Given the description of an element on the screen output the (x, y) to click on. 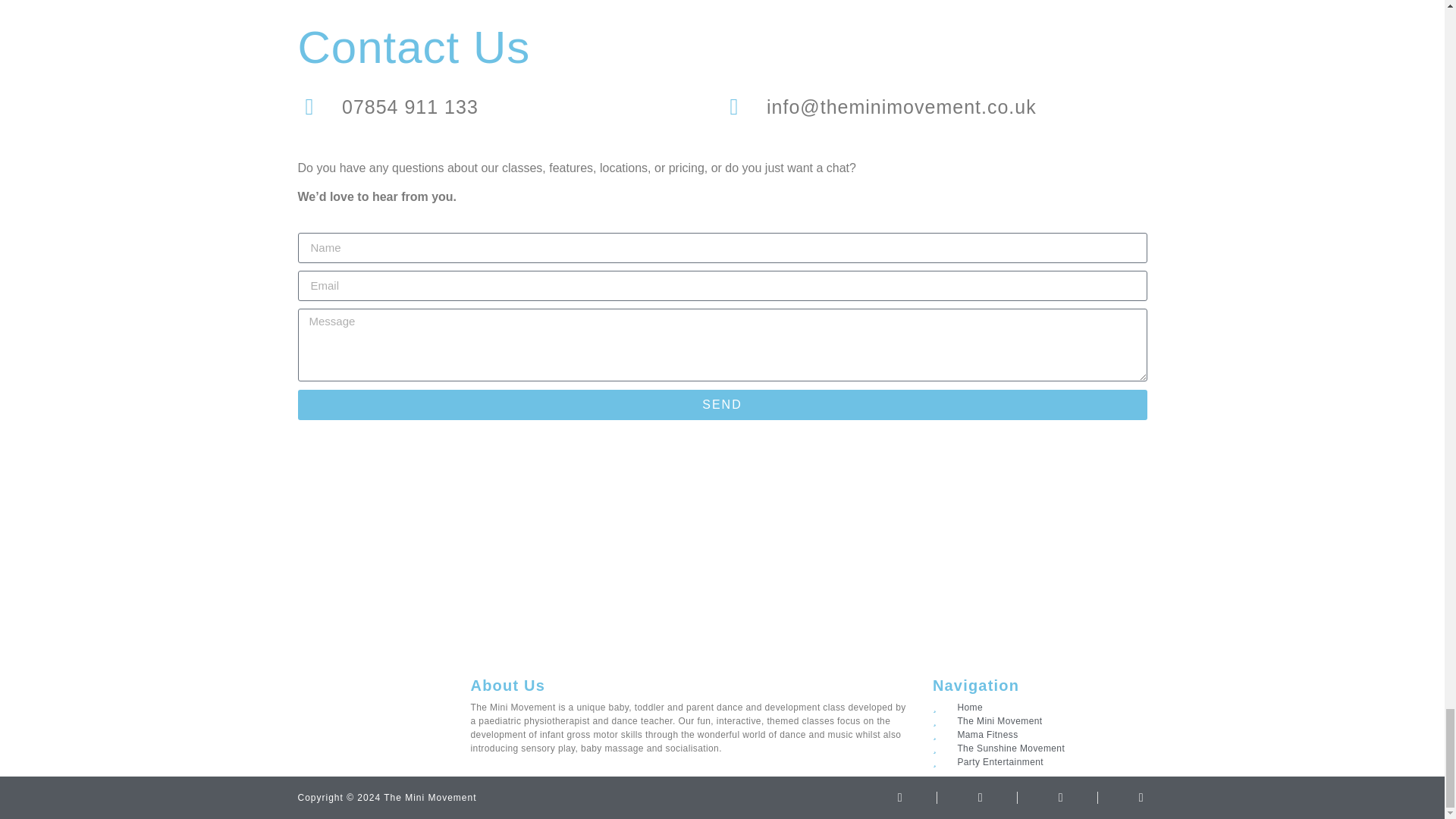
07854 911 133 (509, 107)
